Given the description of an element on the screen output the (x, y) to click on. 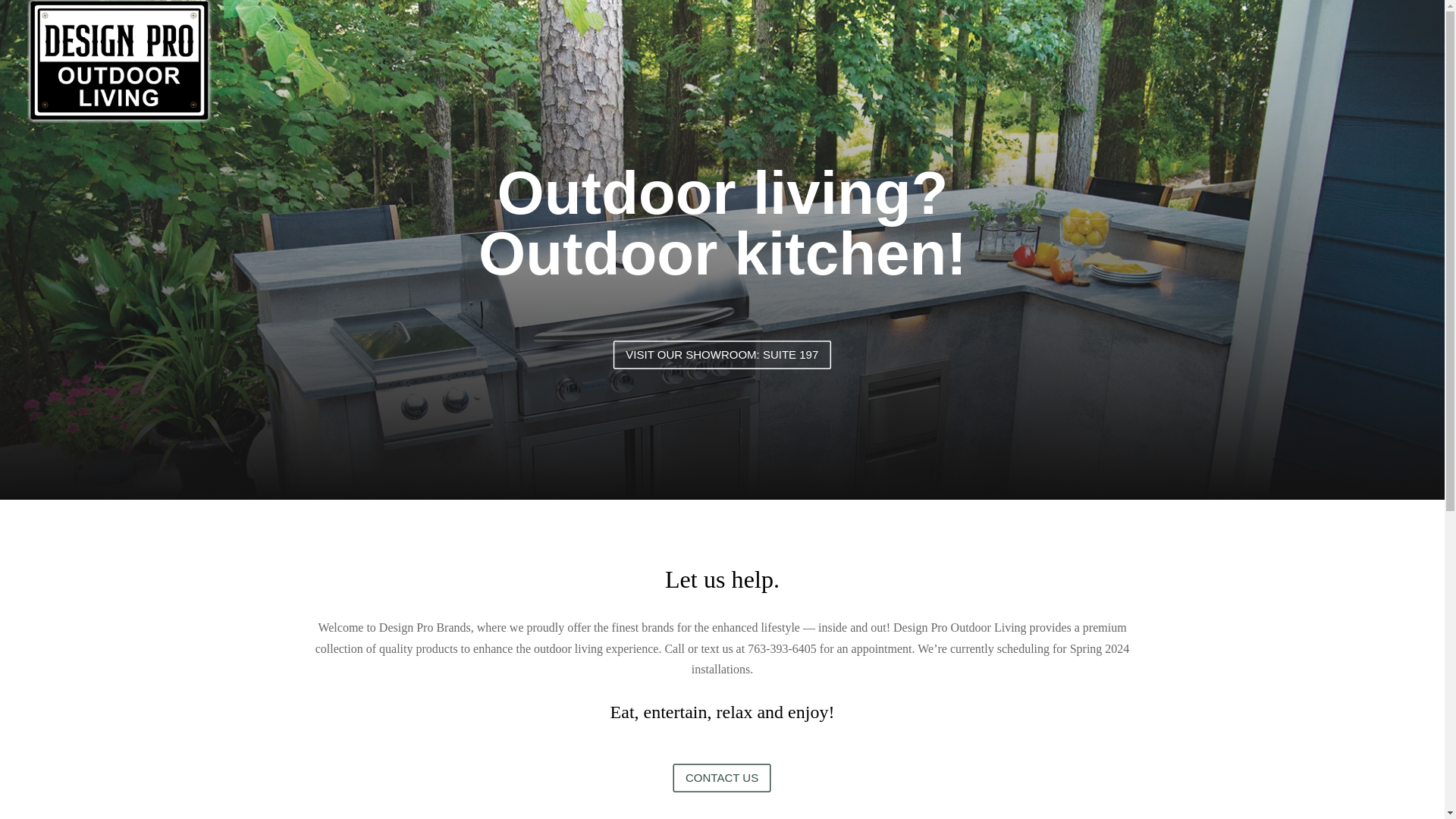
VISIT OUR SHOWROOM: SUITE 197 (758, 360)
DPOLWeb72 (88, 40)
CONTACT US (737, 782)
